Given the description of an element on the screen output the (x, y) to click on. 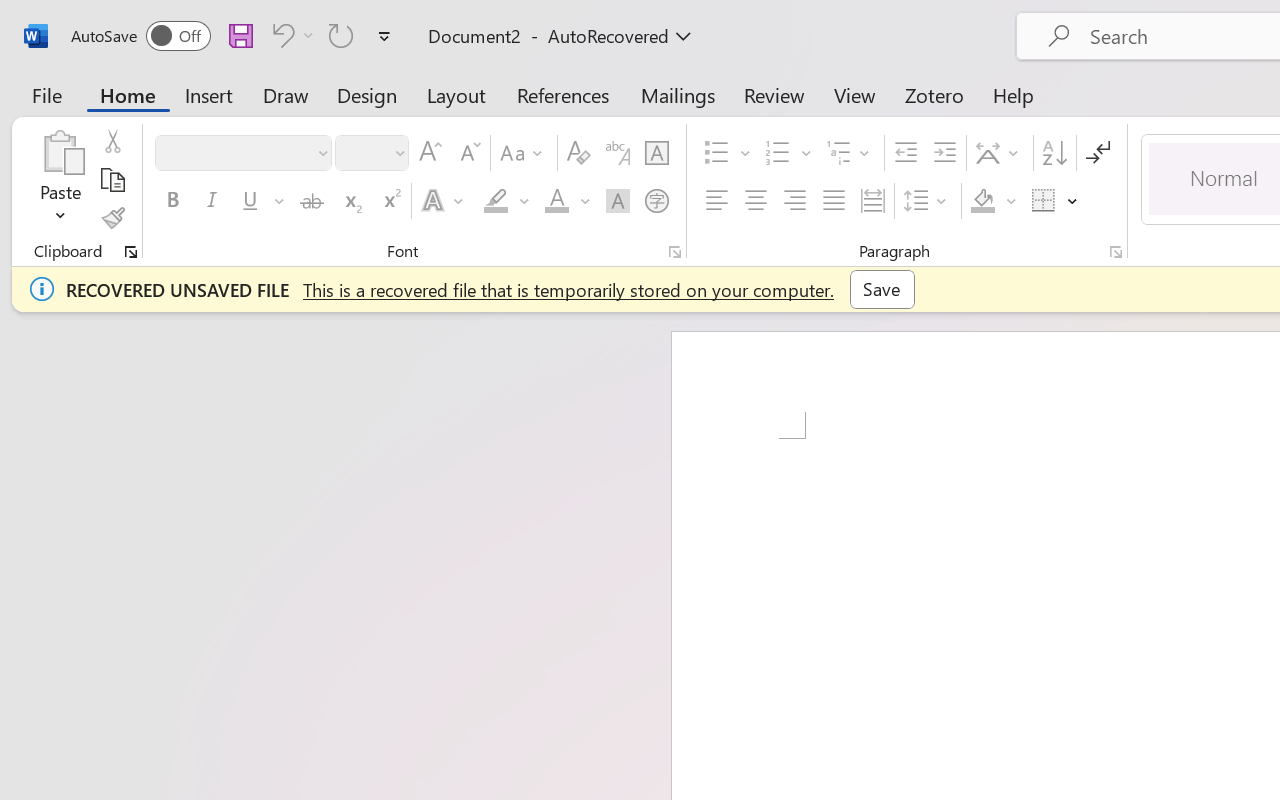
Superscript (390, 201)
Can't Undo (280, 35)
Show/Hide Editing Marks (1098, 153)
Office Clipboard... (131, 252)
Increase Indent (944, 153)
Text Highlight Color Yellow (495, 201)
Can't Undo (290, 35)
Text Effects and Typography (444, 201)
Shading RGB(0, 0, 0) (982, 201)
Font Color (567, 201)
